Given the description of an element on the screen output the (x, y) to click on. 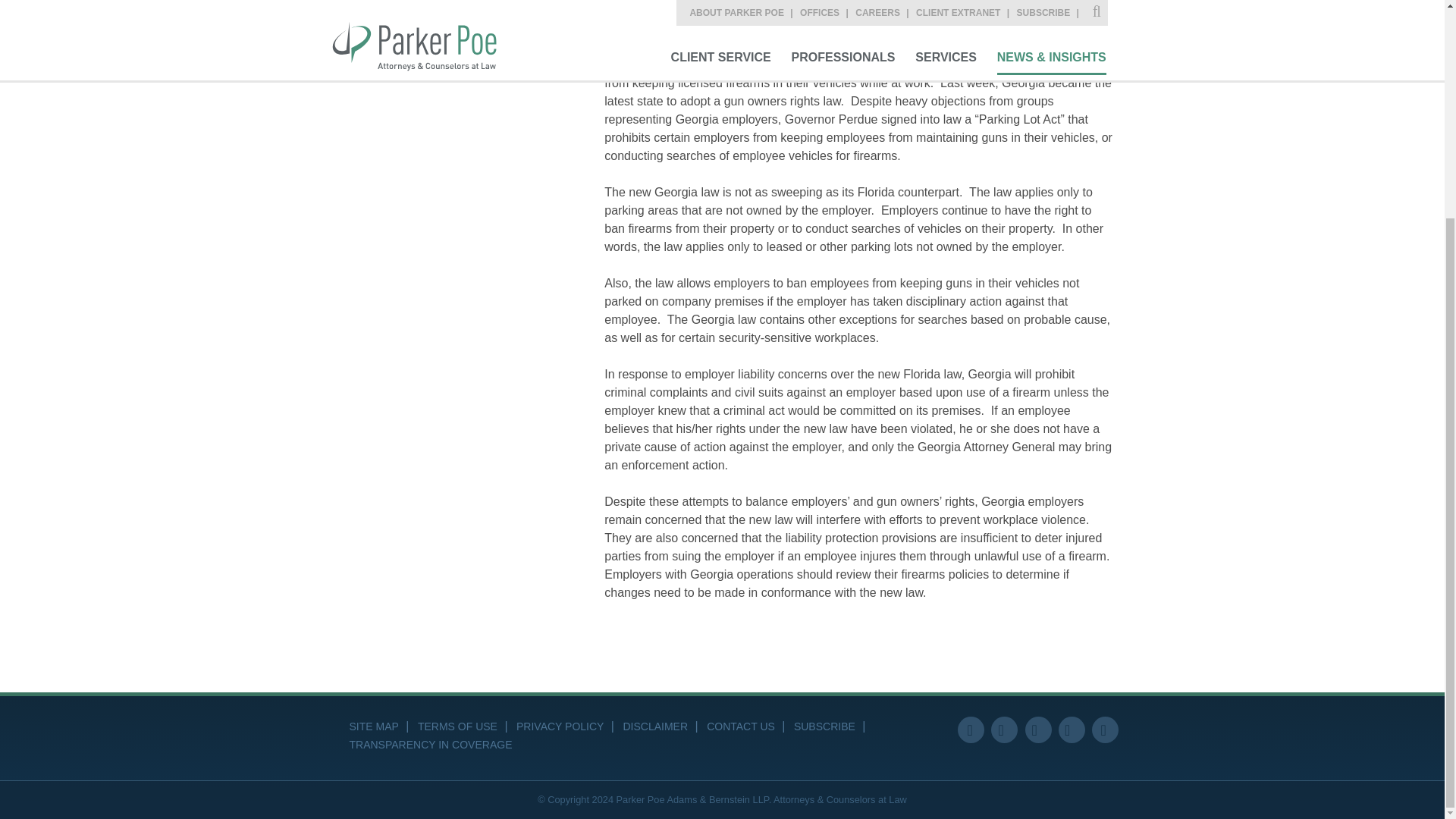
TWITTER (1004, 729)
TERMS OF USE (457, 726)
SUBSCRIBE (824, 726)
DISCLAIMER (655, 726)
TRANSPARENCY IN COVERAGE (430, 744)
CONTACT US (740, 726)
FACEBOOK (971, 729)
SITE MAP (373, 726)
PRIVACY POLICY (560, 726)
SUBSCRIBE (374, 58)
